Given the description of an element on the screen output the (x, y) to click on. 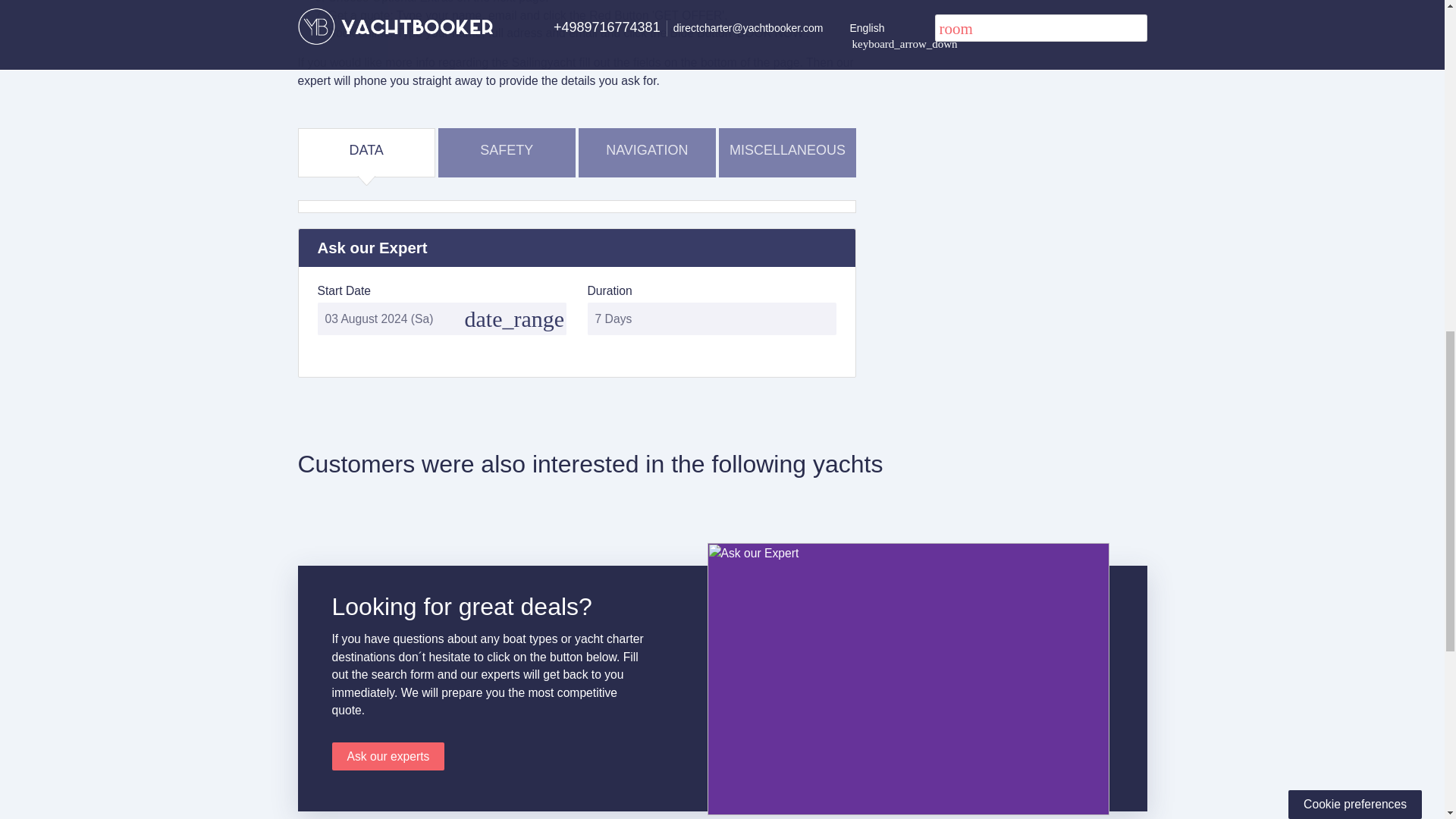
NAVIGATION (646, 149)
DATA (365, 149)
SAFETY (507, 149)
MISCELLANEOUS (787, 149)
